Given the description of an element on the screen output the (x, y) to click on. 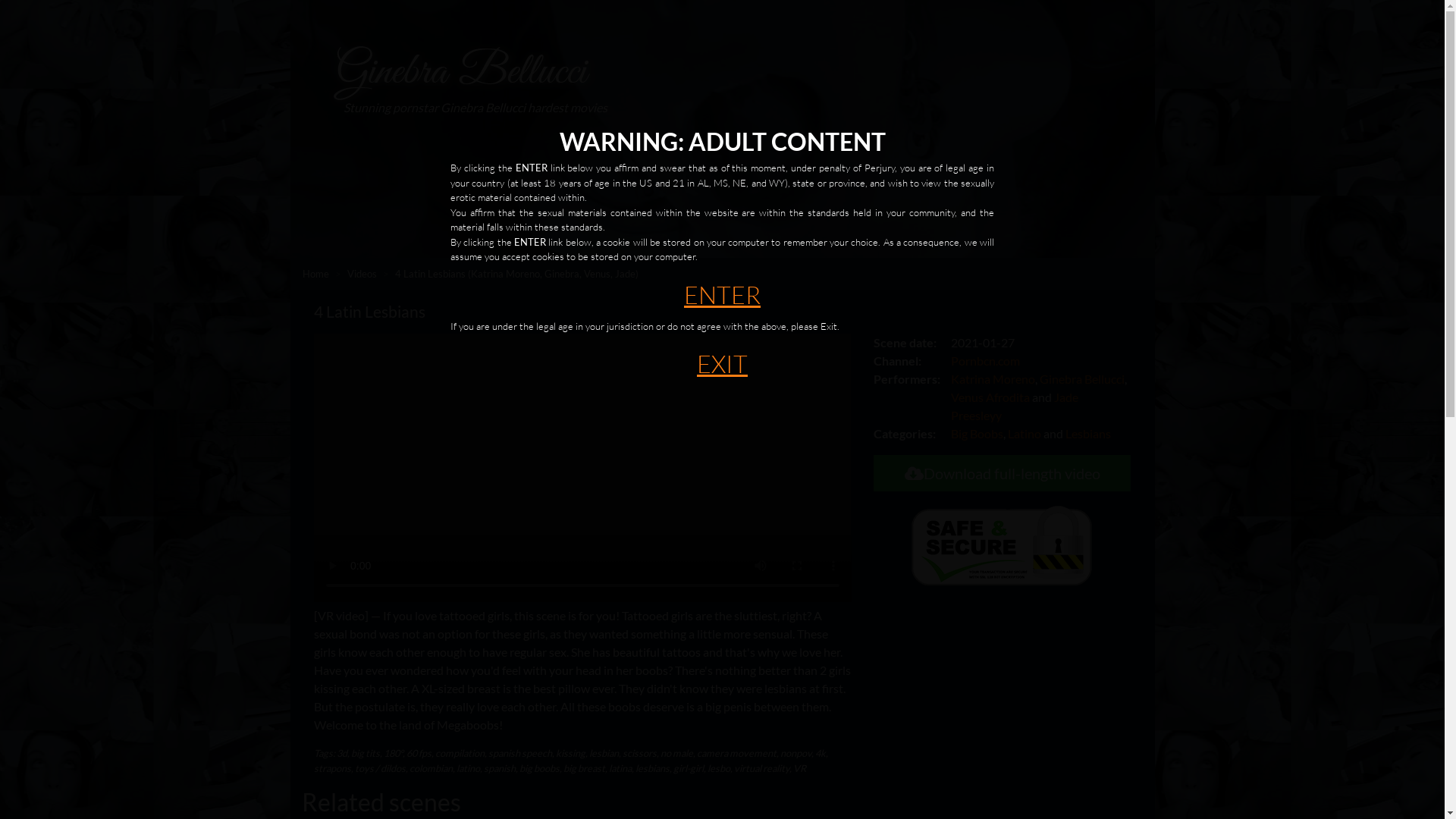
Katrina Moreno Element type: text (992, 378)
Download full-length video Element type: text (1001, 473)
Home Element type: text (314, 273)
Venus Afrodita Element type: text (989, 396)
Latino Element type: text (1024, 433)
Big Boobs Element type: text (976, 433)
Ginebra Bellucci Element type: text (1081, 378)
Lesbians Element type: text (1087, 433)
ENTER Element type: text (721, 294)
EXIT Element type: text (721, 363)
Jade Preesleyy Element type: text (1014, 405)
Pornbcn.com Element type: text (984, 360)
Videos Element type: text (361, 273)
